Given the description of an element on the screen output the (x, y) to click on. 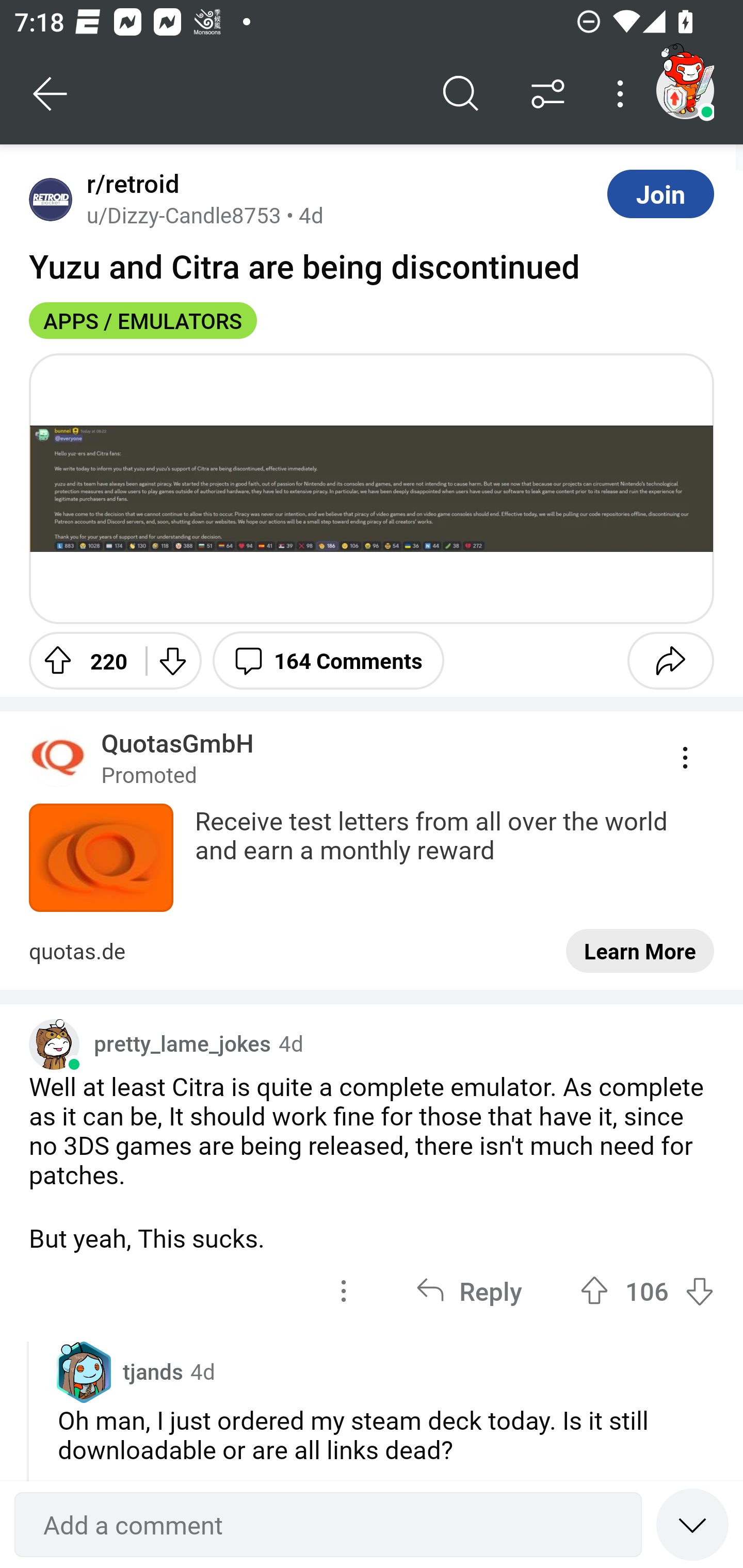
Back (50, 93)
TestAppium002 account (685, 90)
Search comments (460, 93)
Sort comments (547, 93)
More options (623, 93)
r/retroid (129, 183)
Join (660, 193)
Avatar (50, 199)
APPS / EMULATORS (142, 320)
Image (371, 488)
Upvote 220 (79, 660)
Downvote (171, 660)
164 Comments (328, 660)
Share (670, 660)
Custom avatar (53, 1044)
options (343, 1290)
Reply (469, 1290)
Upvote 106 106 votes Downvote (647, 1290)
Speed read (692, 1524)
Add a comment (327, 1524)
